Given the description of an element on the screen output the (x, y) to click on. 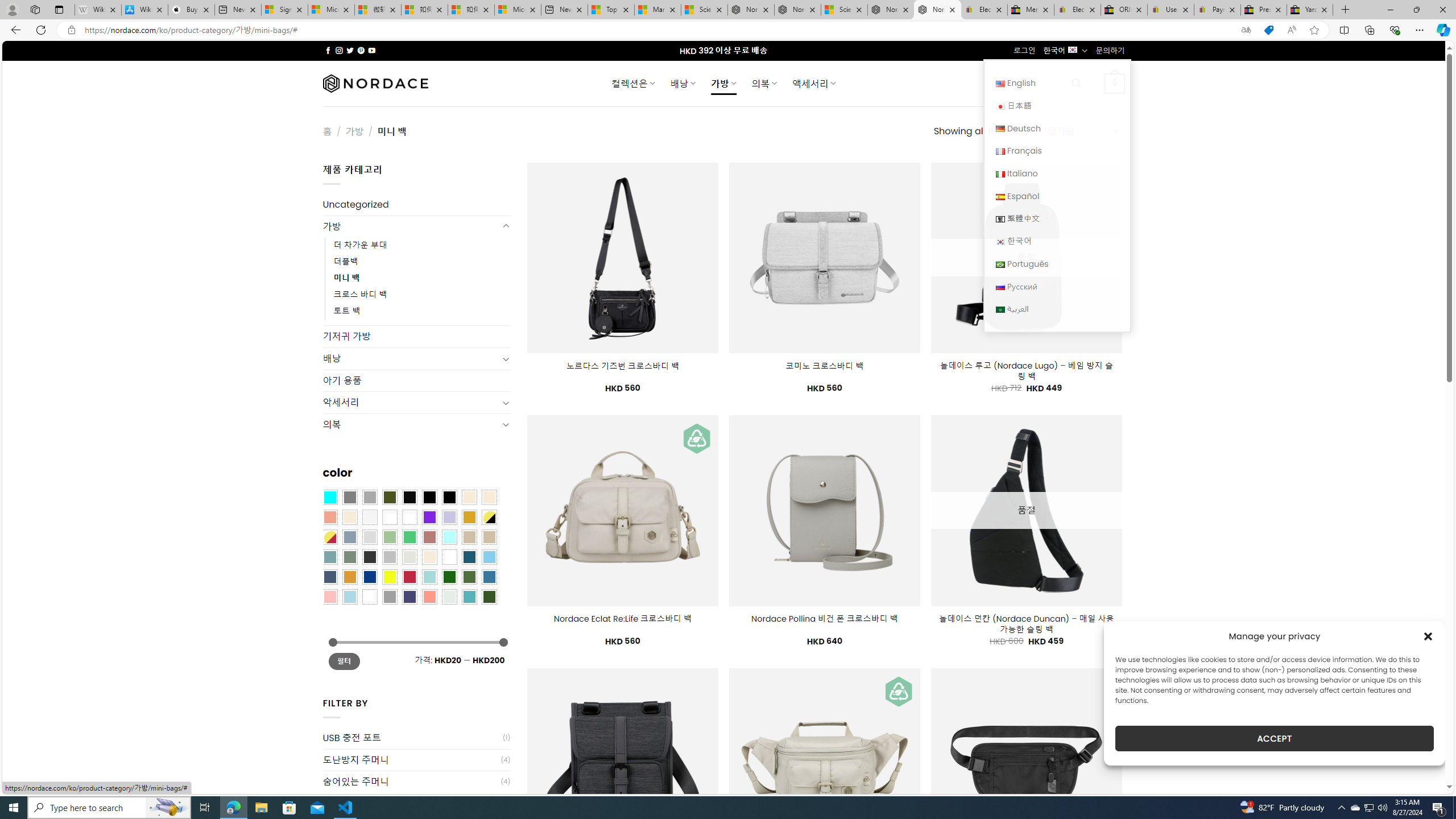
Follow on Instagram (338, 50)
